Given the description of an element on the screen output the (x, y) to click on. 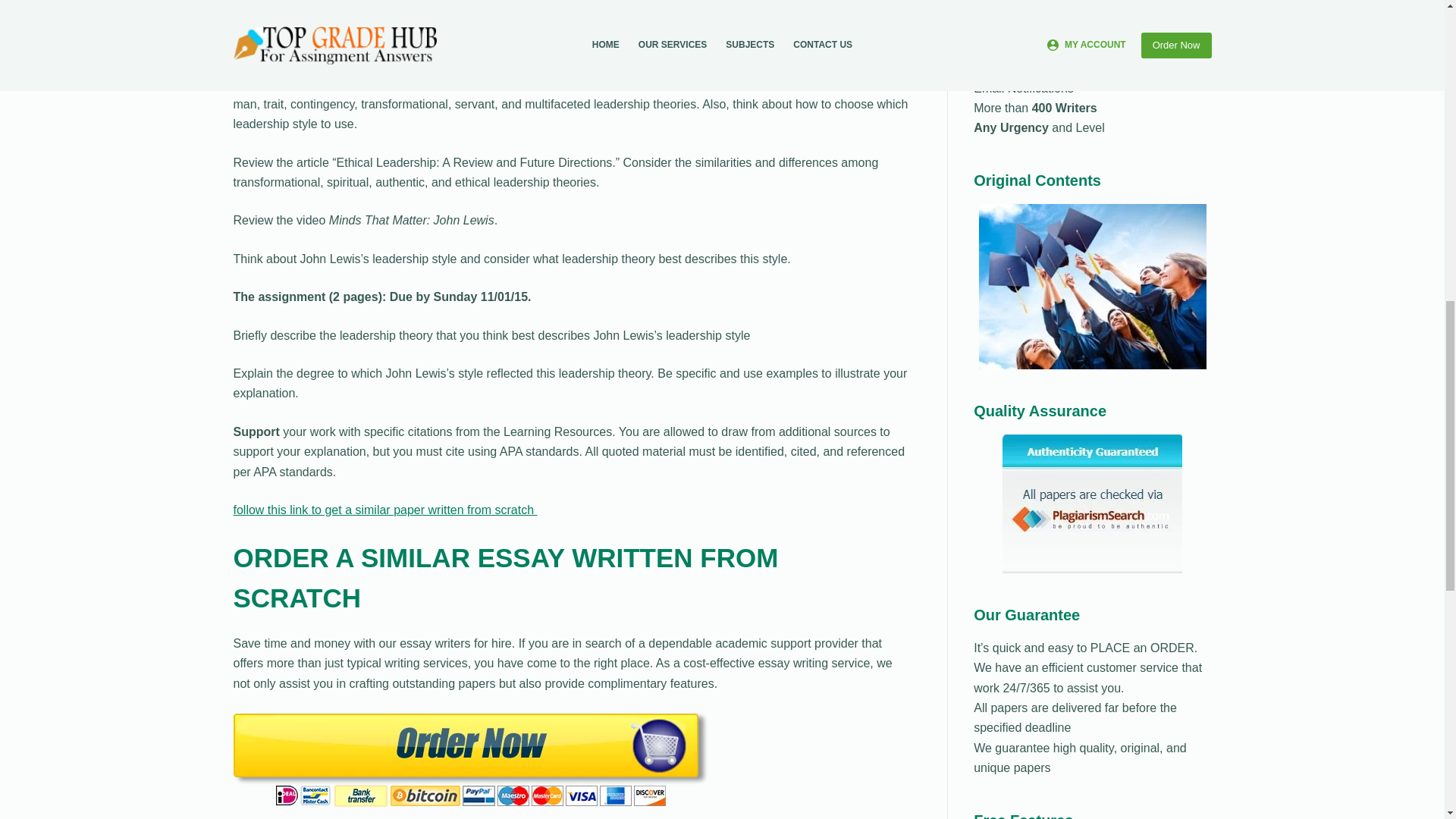
PLACE an ORDER. (1141, 647)
